Given the description of an element on the screen output the (x, y) to click on. 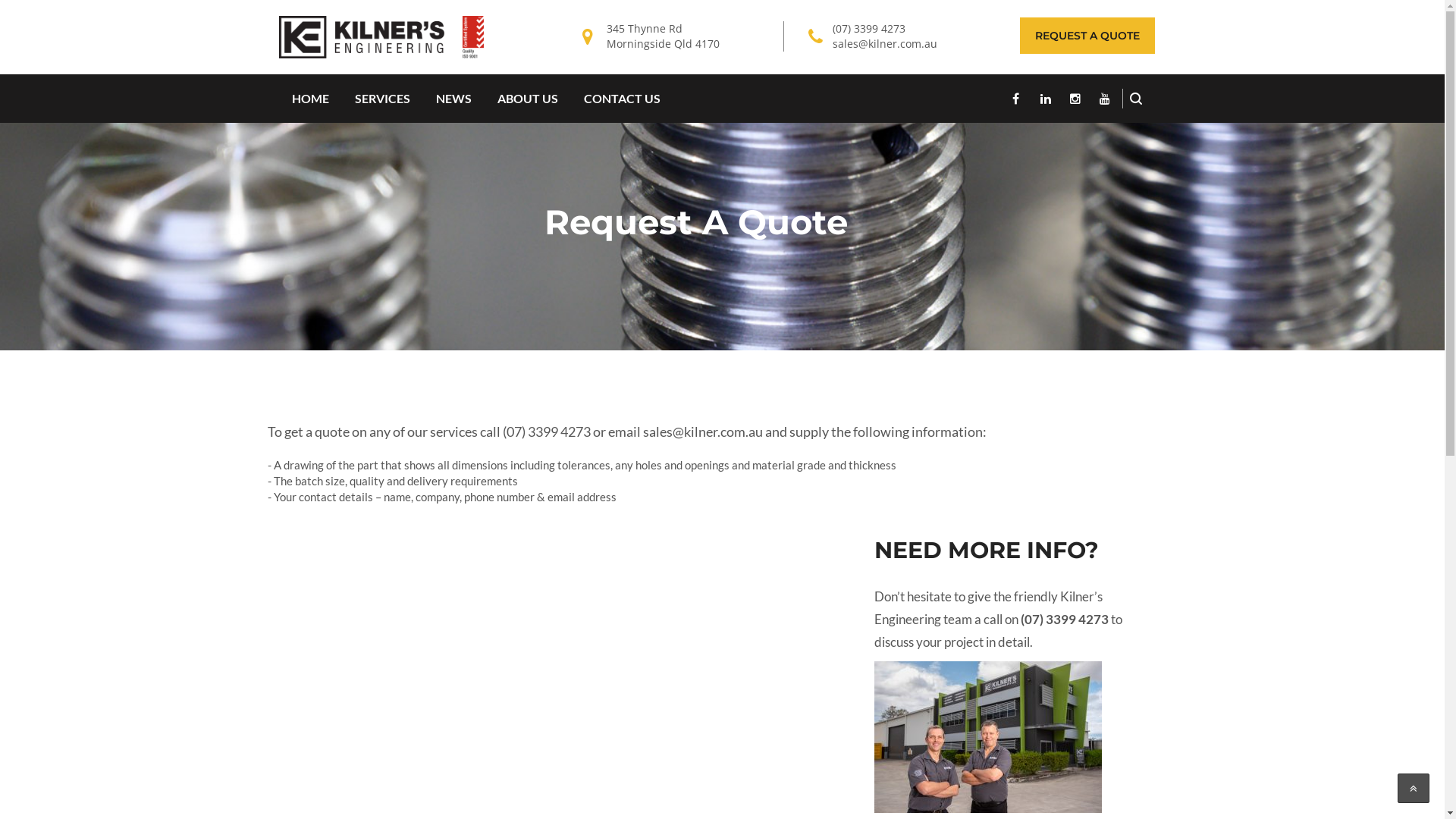
NEWS Element type: text (453, 98)
SERVICES Element type: text (381, 98)
CONTACT US Element type: text (621, 98)
HOME Element type: text (310, 98)
REQUEST A QUOTE Element type: text (1086, 35)
ABOUT US Element type: text (526, 98)
